Given the description of an element on the screen output the (x, y) to click on. 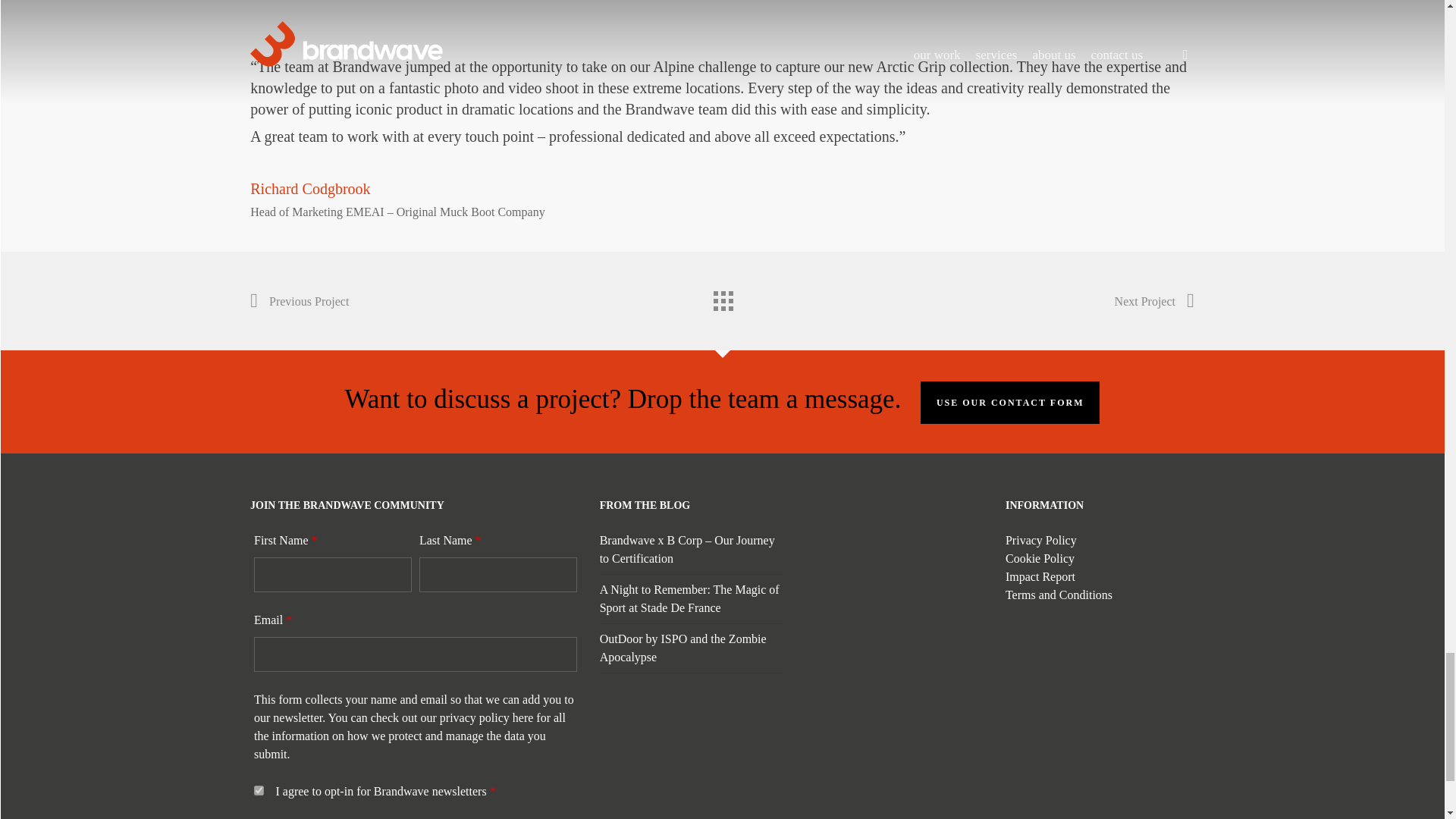
Previous Project (299, 301)
Next Project (1154, 301)
Back to all projects (721, 296)
privacy policy here (486, 717)
Cookie Policy (1040, 558)
1 (258, 790)
OutDoor by ISPO and the Zombie Apocalypse (683, 647)
Richard Codgbrook (309, 188)
A Night to Remember: The Magic of Sport at Stade De France (688, 597)
USE OUR CONTACT FORM (1010, 401)
